Given the description of an element on the screen output the (x, y) to click on. 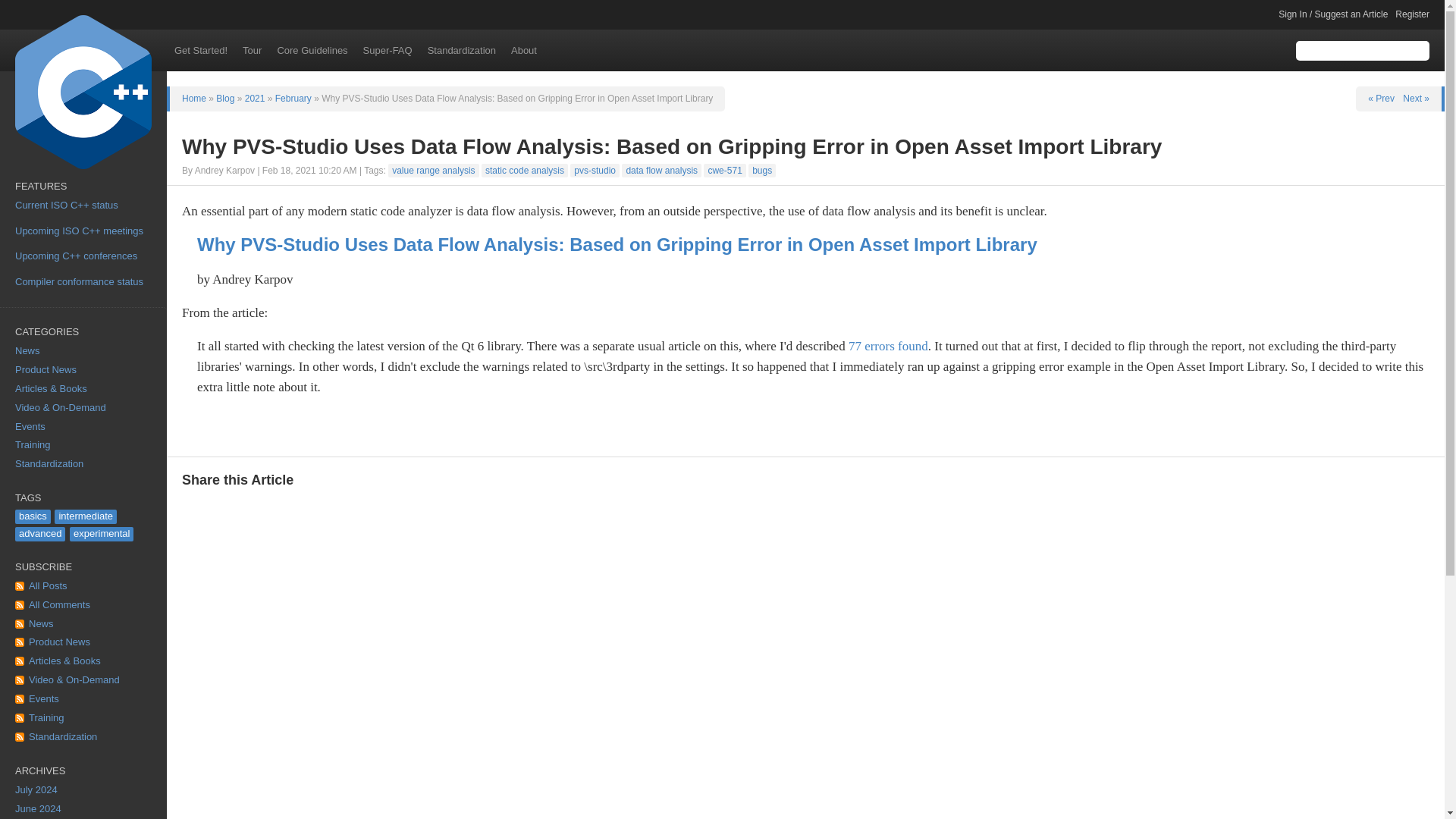
June 2024 (83, 809)
Training (83, 445)
Training (83, 718)
Core Guidelines (312, 50)
Standardization (83, 464)
July 2024 (83, 790)
News (83, 624)
advanced (39, 534)
Super-FAQ (387, 50)
basics (32, 516)
Get Started! (200, 50)
Standardization (83, 737)
Product News (83, 642)
experimental (101, 534)
Search (1419, 50)
